Given the description of an element on the screen output the (x, y) to click on. 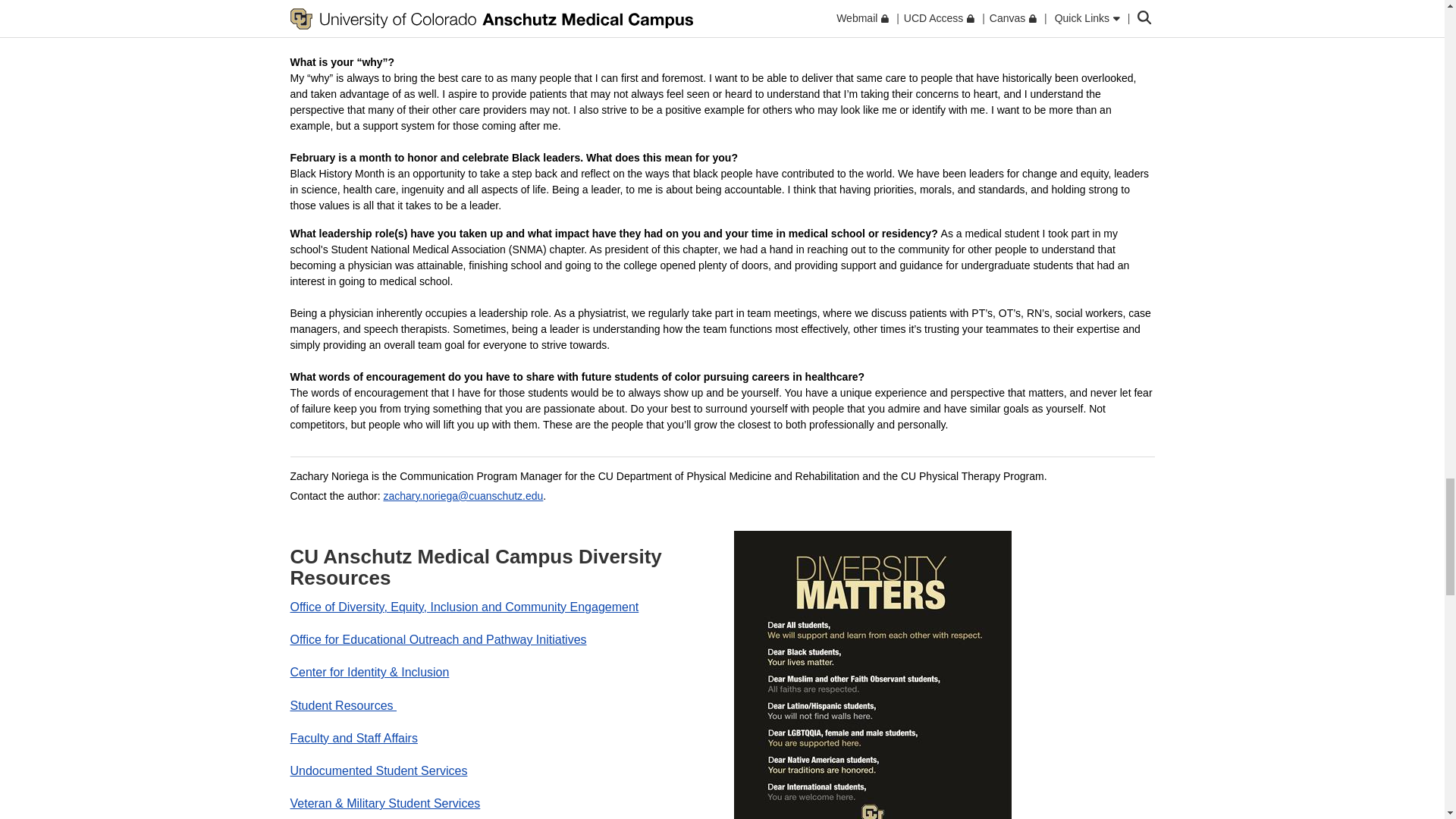
Diversity Matters (872, 674)
